Given the description of an element on the screen output the (x, y) to click on. 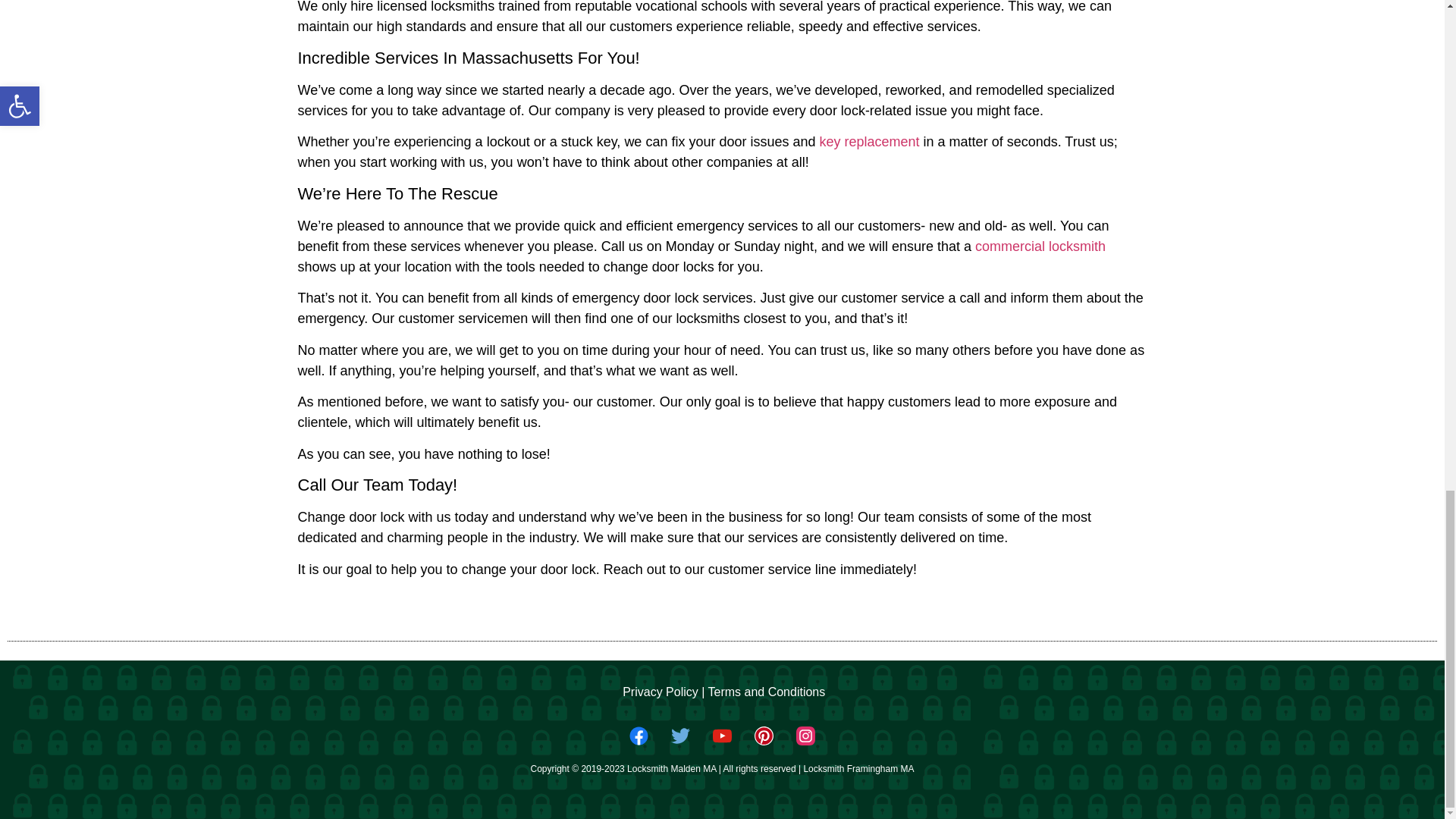
Terms and Conditions (766, 691)
key replacement (871, 141)
commercial locksmith (1040, 246)
Locksmith Framingham MA (858, 768)
